Given the description of an element on the screen output the (x, y) to click on. 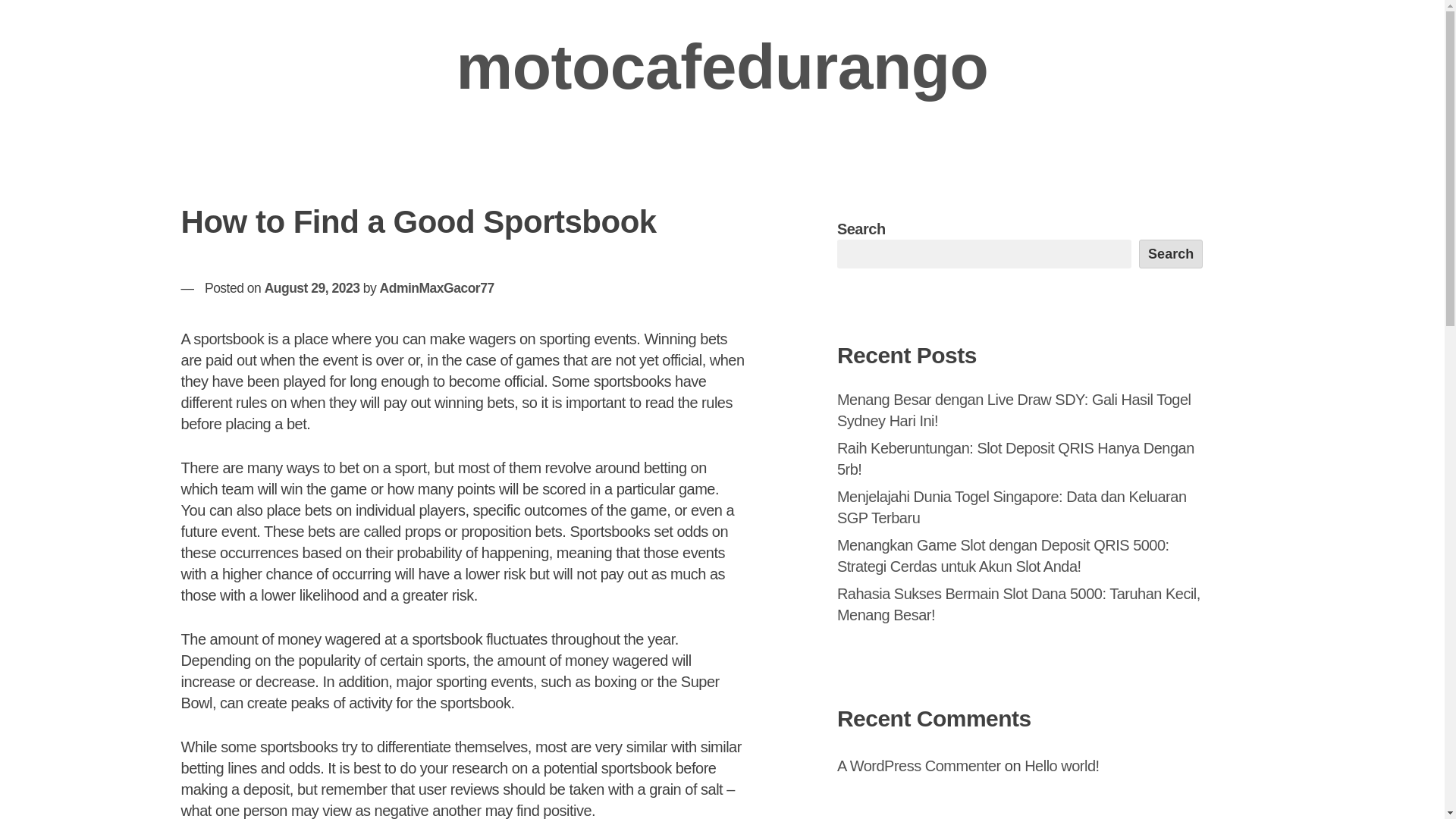
Hello world! (1062, 765)
August 29, 2023 (311, 287)
motocafedurango (722, 66)
AdminMaxGacor77 (437, 287)
A WordPress Commenter (919, 765)
Raih Keberuntungan: Slot Deposit QRIS Hanya Dengan 5rb! (1015, 458)
Search (1171, 253)
